Given the description of an element on the screen output the (x, y) to click on. 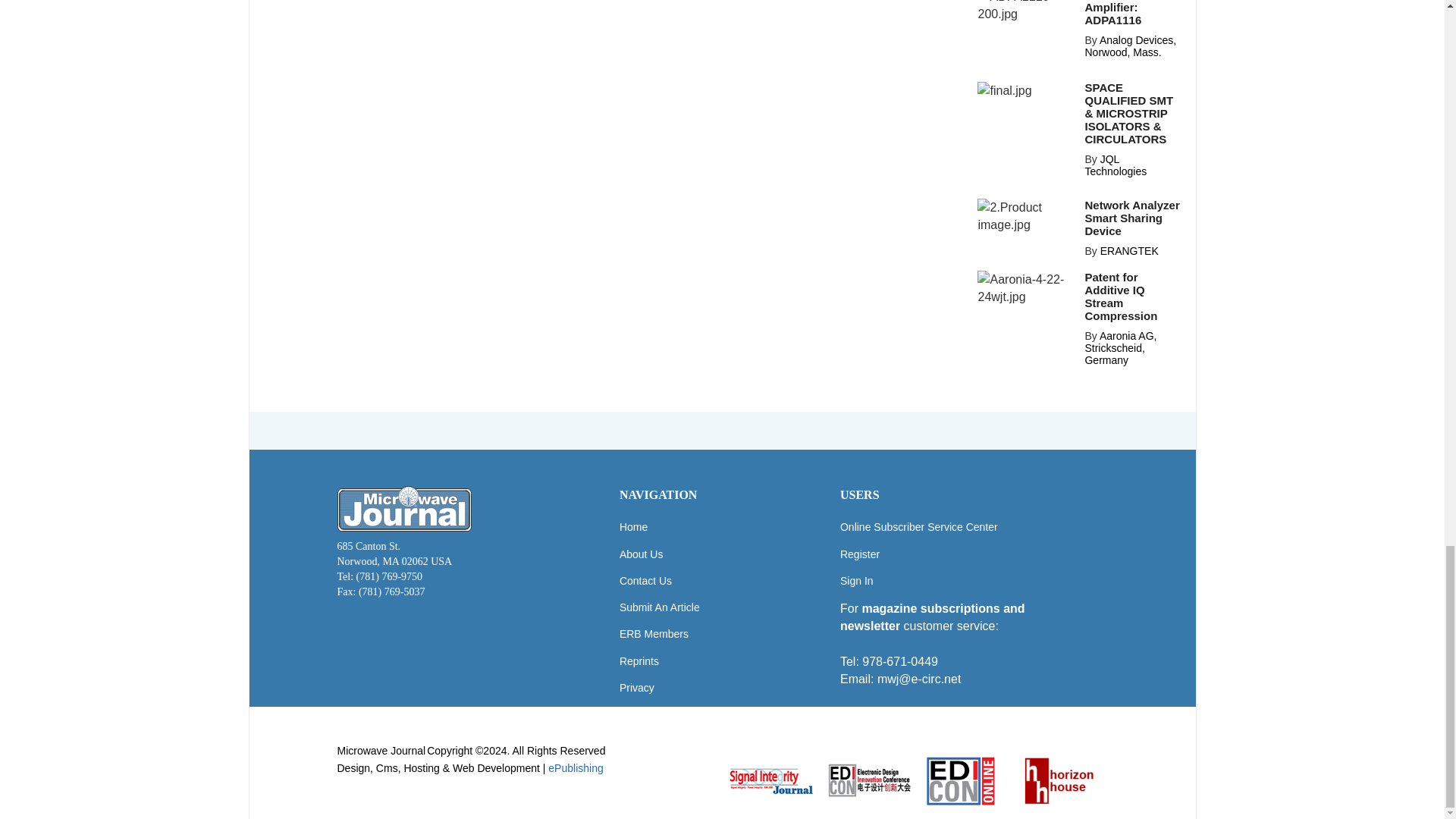
Aaronia-4-22-24wjt.jpg (1025, 288)
final.jpg (1003, 90)
2.Product image.jpg (1025, 216)
ADPA1116 200.jpg (1025, 11)
